Given the description of an element on the screen output the (x, y) to click on. 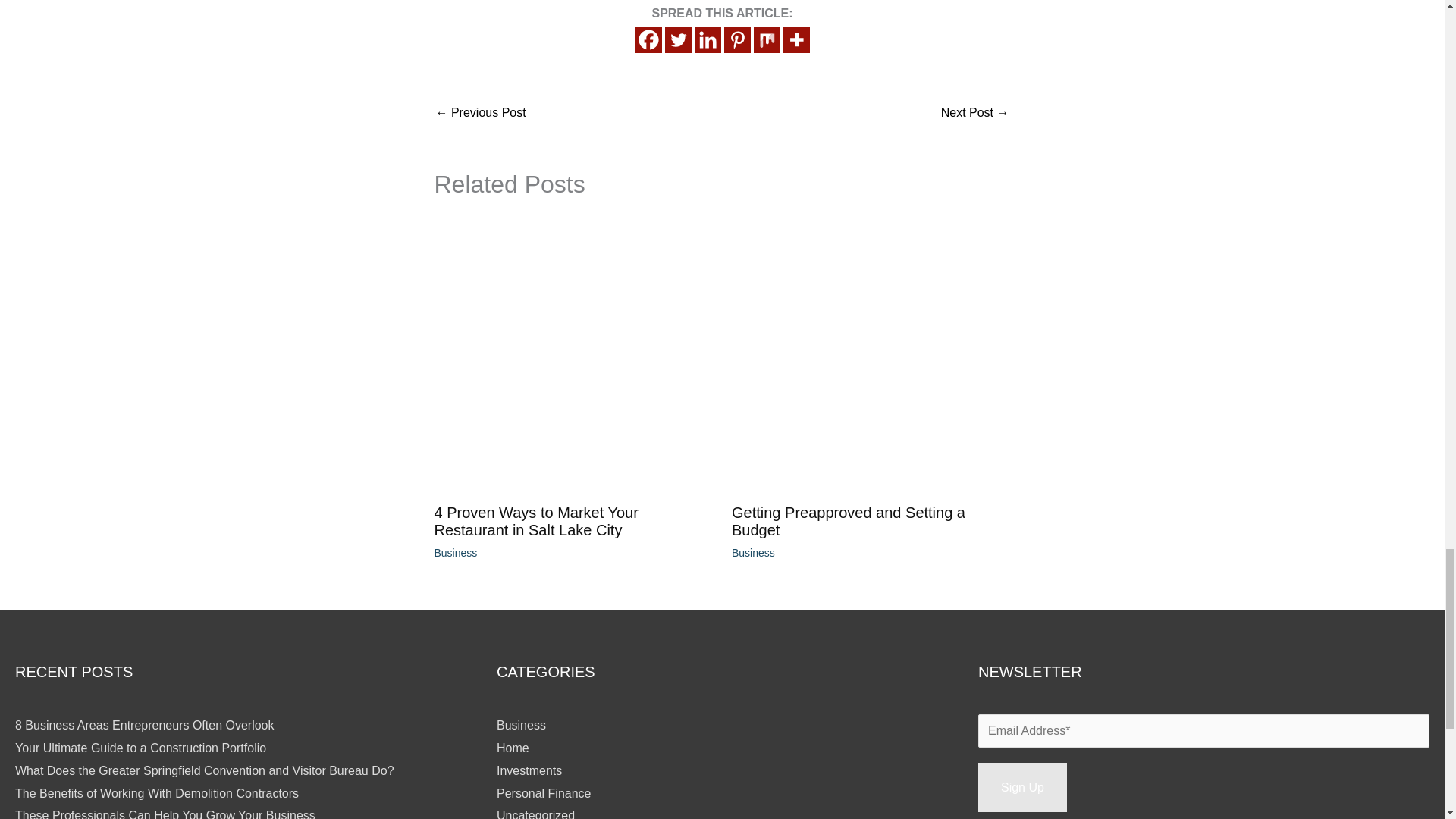
Getting Preapproved and Setting a Budget (848, 521)
More (796, 39)
Business (521, 725)
Sign Up (1022, 787)
Sign Up (1022, 787)
Pinterest (736, 39)
Linkedin (707, 39)
Business (753, 552)
Tools that Help Entrepreneurs With Their Job (974, 113)
